Given the description of an element on the screen output the (x, y) to click on. 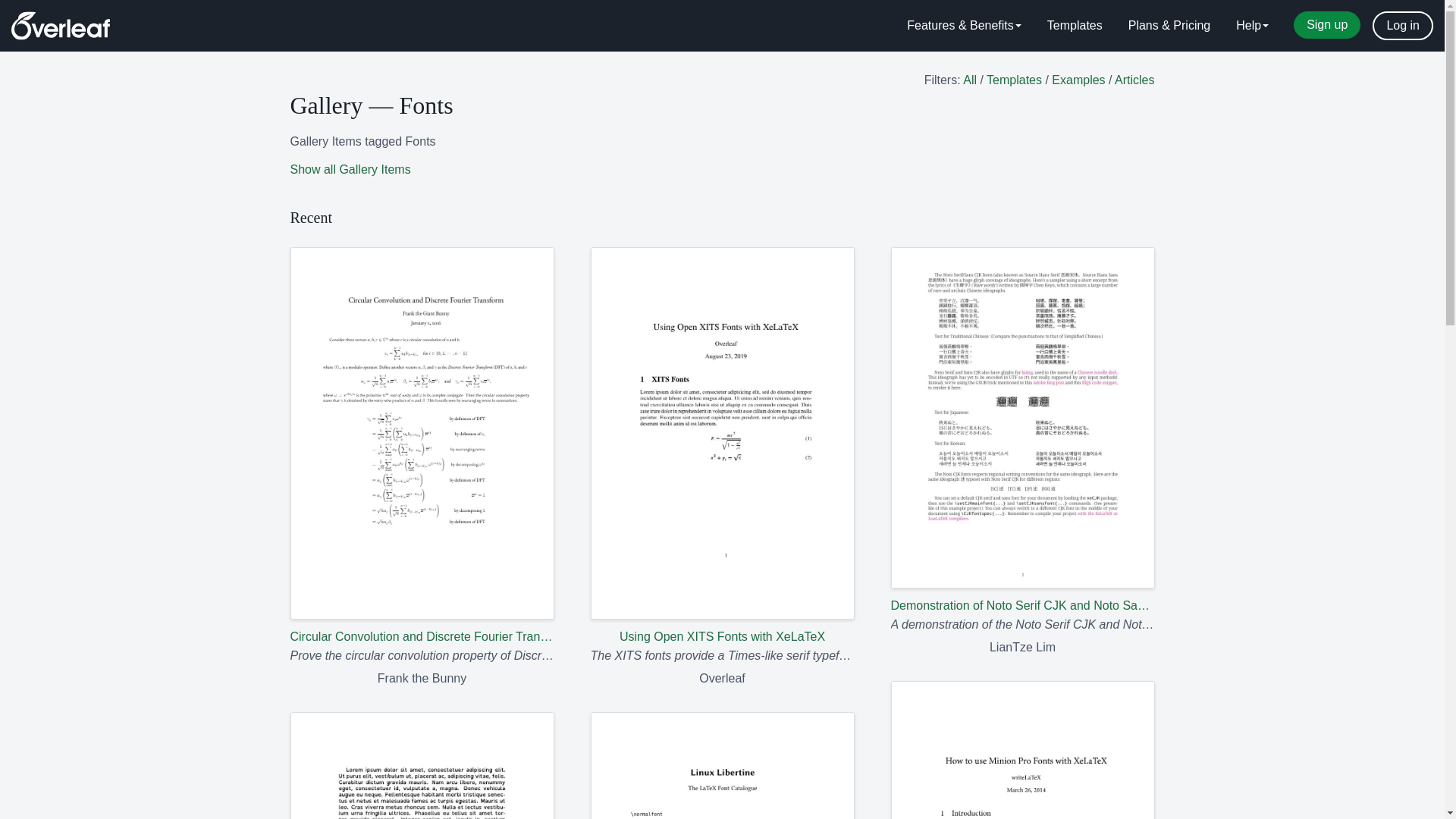
Examples (1078, 79)
Templates (1014, 79)
Help (1252, 25)
How to use Minion Pro Fonts with XeLaTeX (1021, 749)
Templates (1074, 25)
Sign up (1326, 24)
Using Dyslexic-Friendly Fonts on Overleaf (421, 765)
Articles (1134, 79)
All (969, 79)
Show all Gallery Items (349, 169)
